Given the description of an element on the screen output the (x, y) to click on. 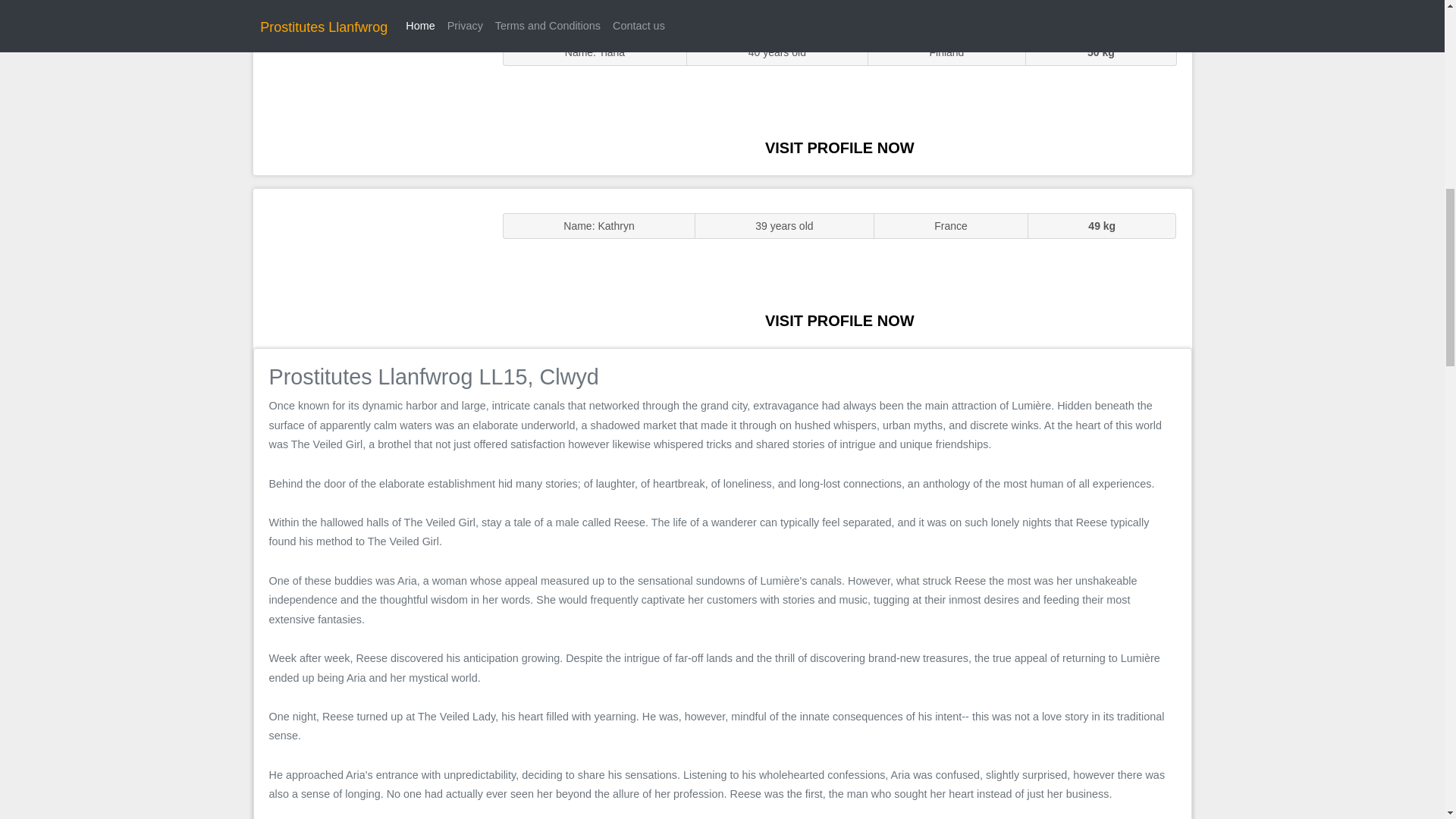
VISIT PROFILE NOW (839, 147)
Sluts (370, 94)
Massage (370, 267)
VISIT PROFILE NOW (839, 320)
